Given the description of an element on the screen output the (x, y) to click on. 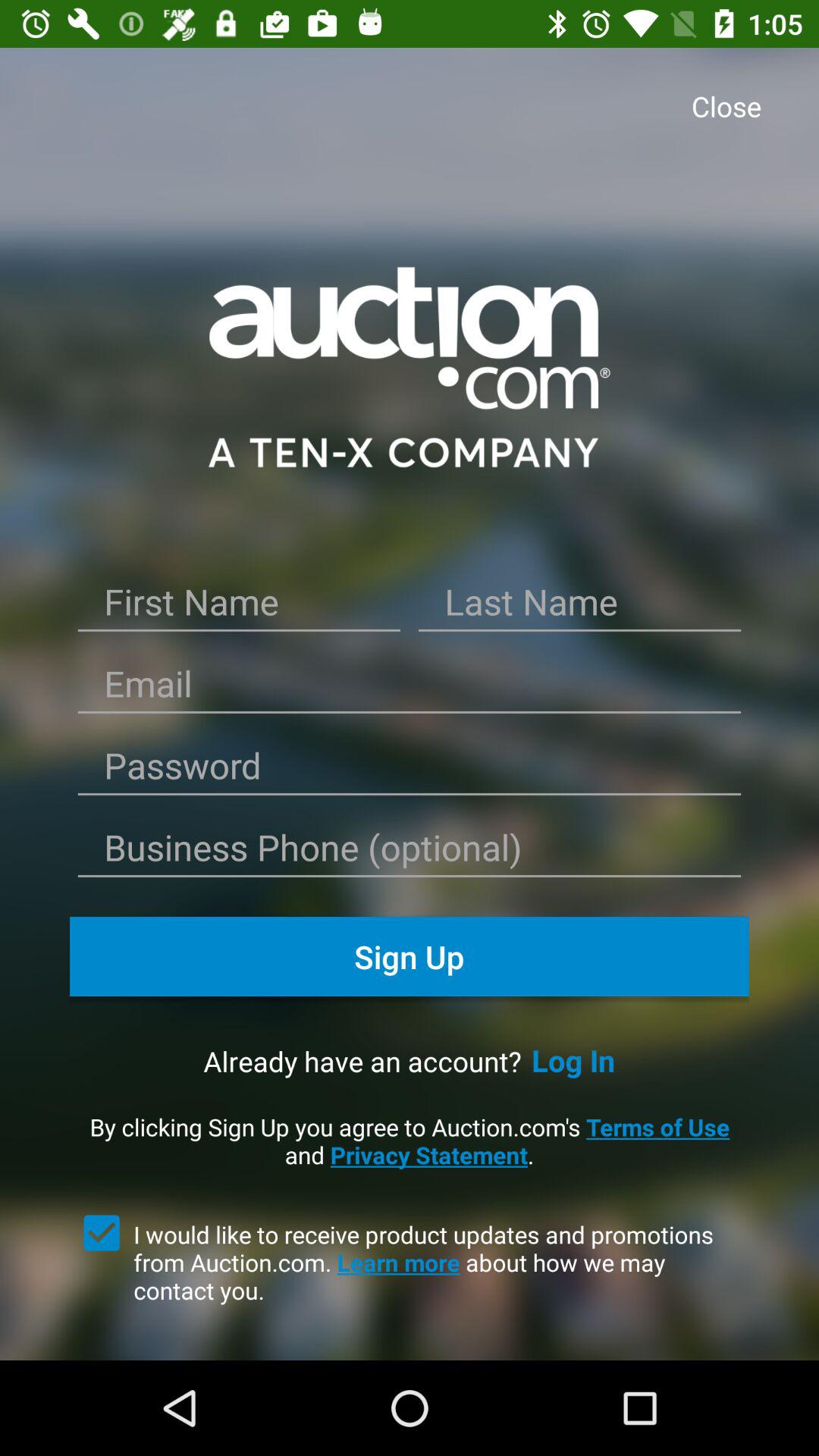
last name (579, 607)
